Given the description of an element on the screen output the (x, y) to click on. 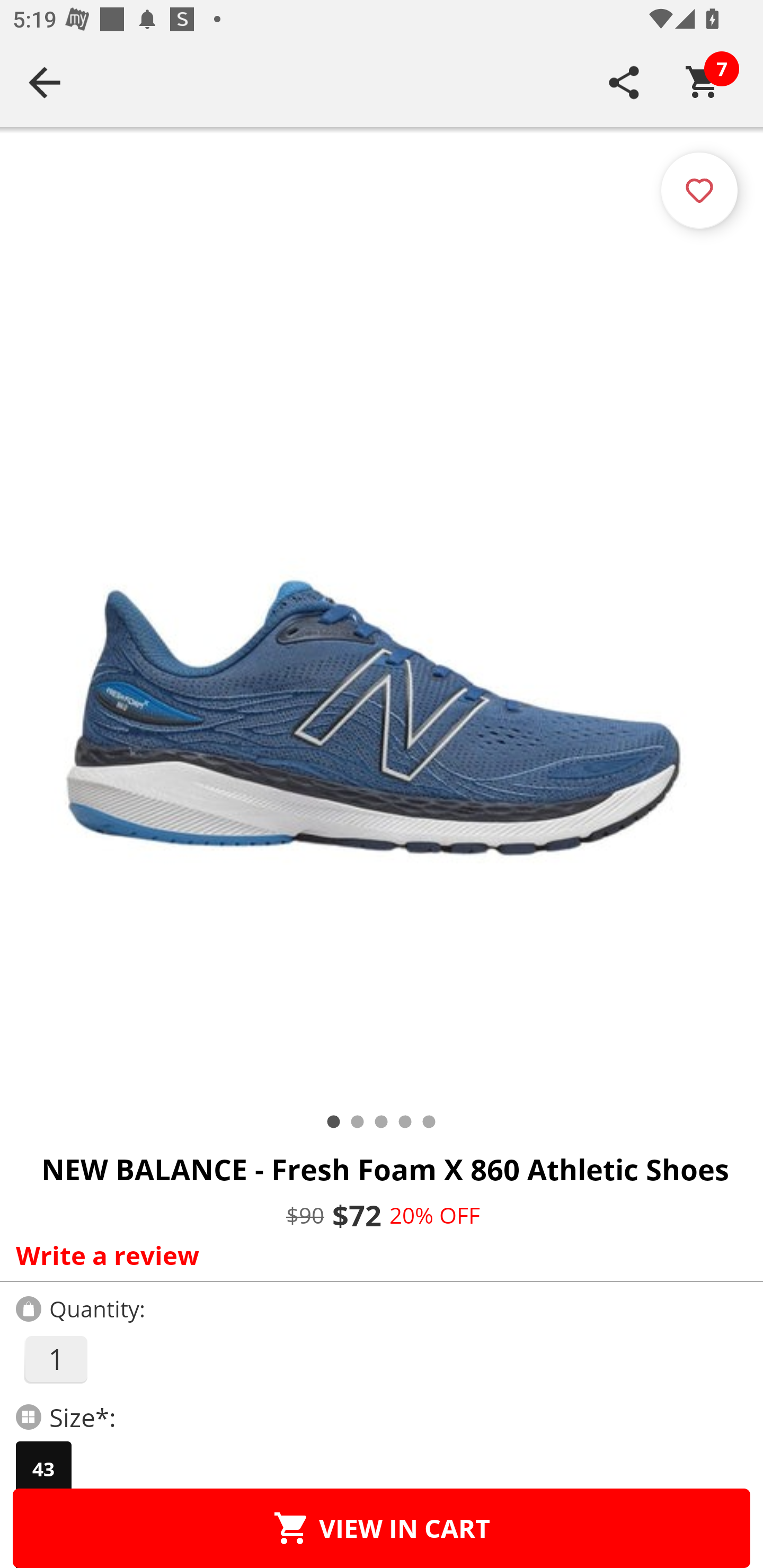
Navigate up (44, 82)
SHARE (623, 82)
Cart (703, 81)
Write a review (377, 1255)
1 (55, 1358)
43 (43, 1468)
VIEW IN CART (381, 1528)
